Given the description of an element on the screen output the (x, y) to click on. 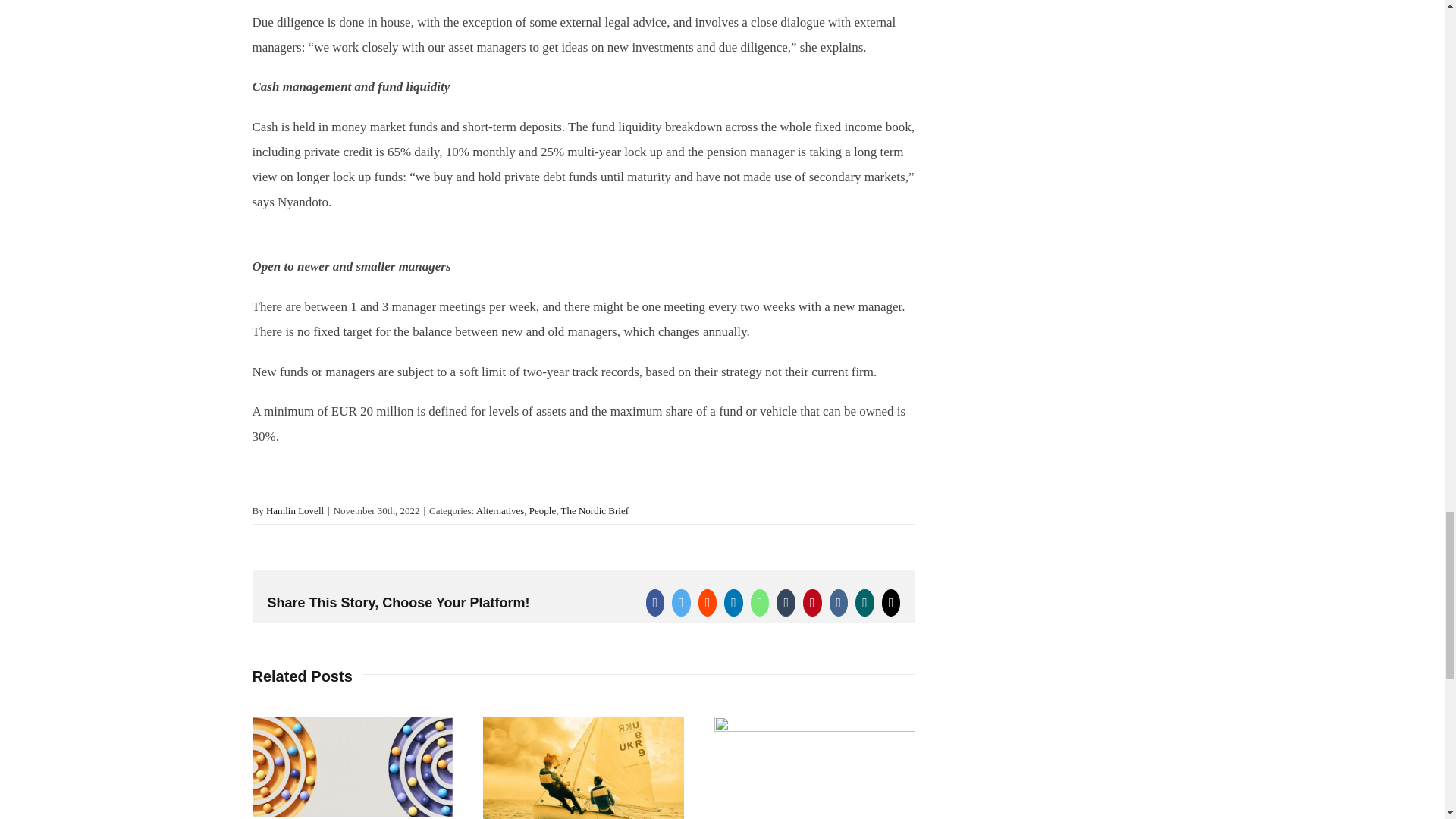
People (542, 510)
Alternatives (500, 510)
The Nordic Brief (594, 510)
Posts by Hamlin Lovell (294, 510)
Hamlin Lovell (294, 510)
